Given the description of an element on the screen output the (x, y) to click on. 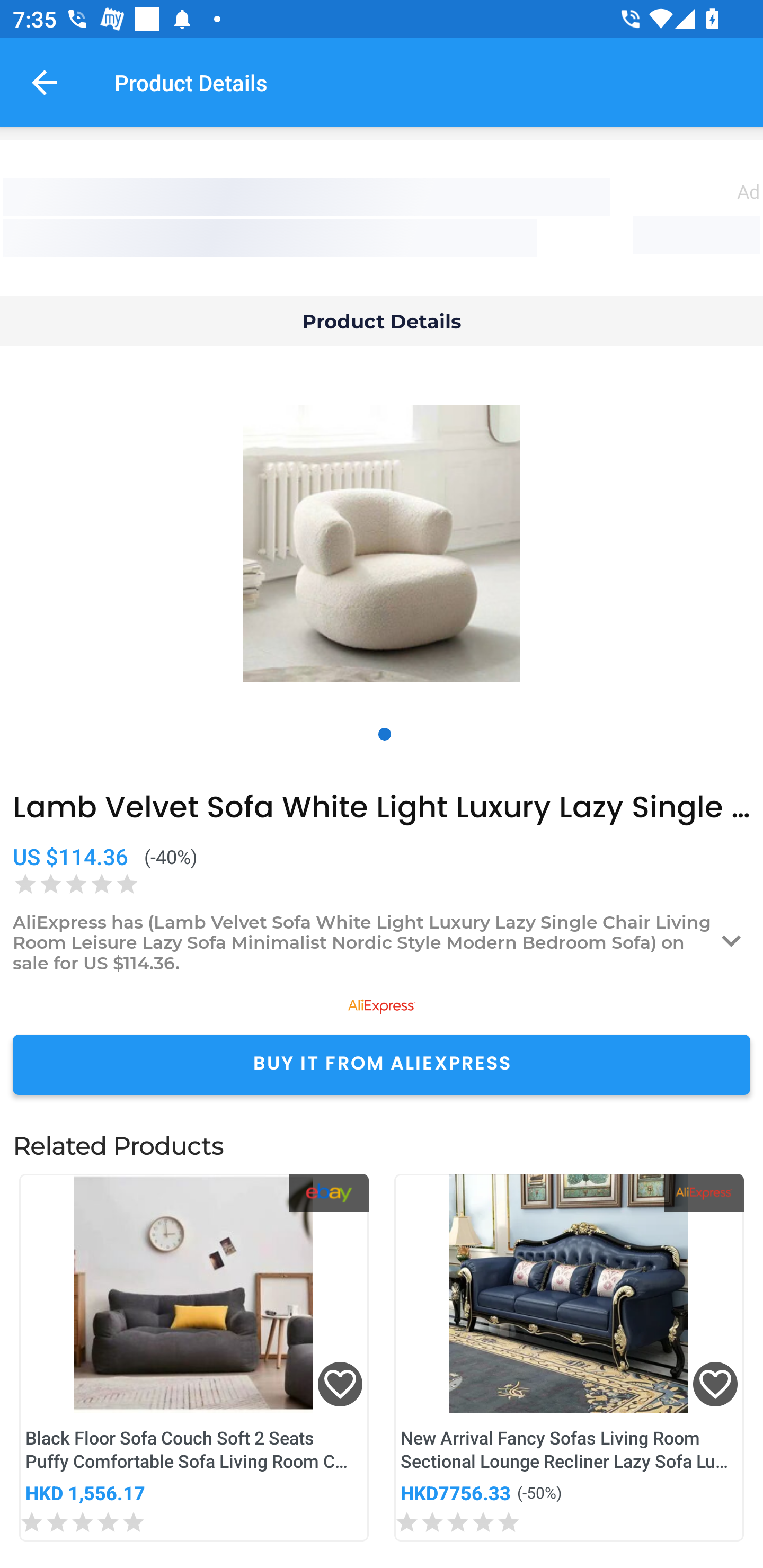
Navigate up (44, 82)
BUY IT FROM ALIEXPRESS (381, 1064)
